Given the description of an element on the screen output the (x, y) to click on. 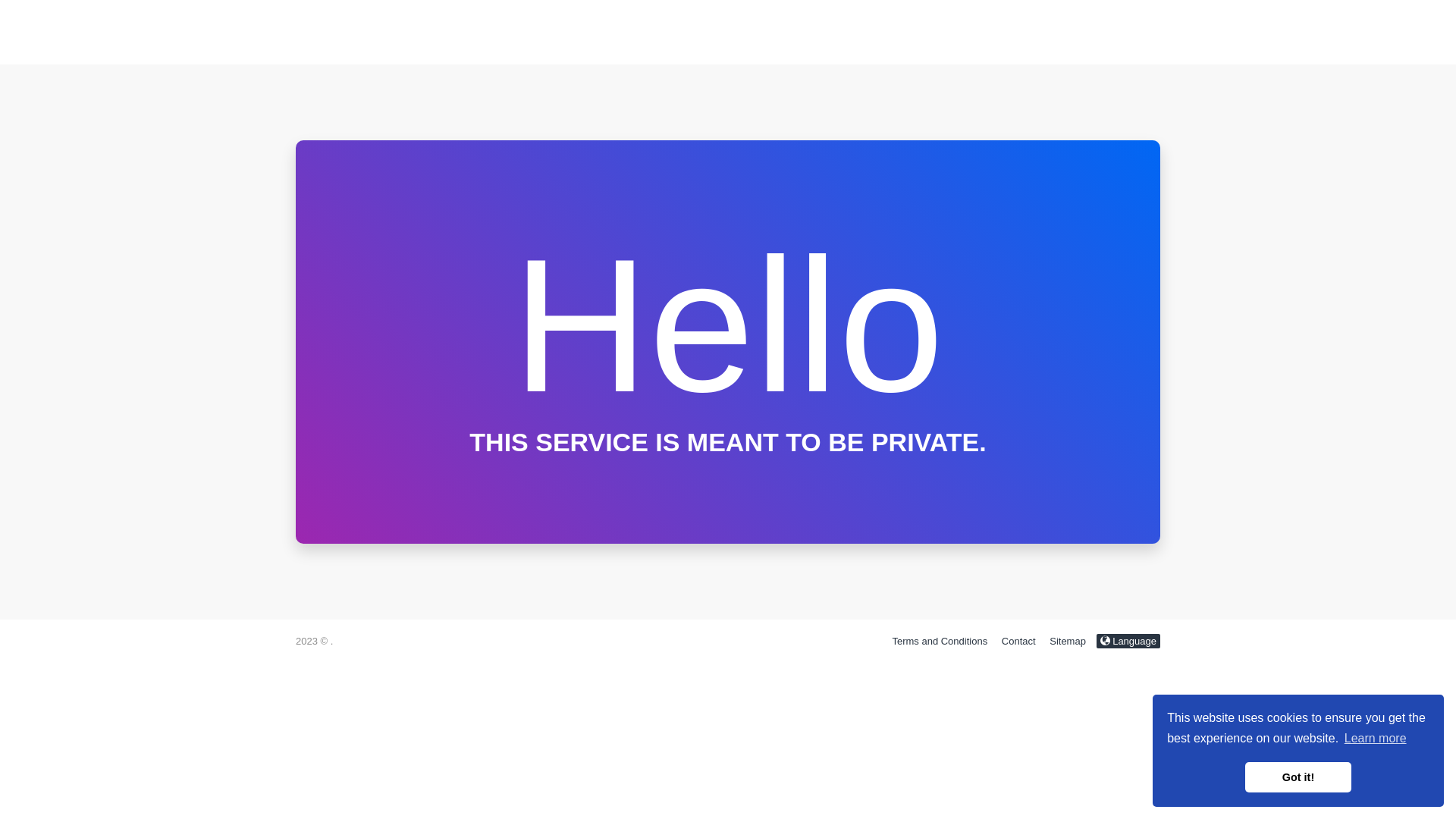
Learn more Element type: text (1375, 738)
Sitemap Element type: text (1067, 640)
Terms and Conditions Element type: text (939, 640)
Got it! Element type: text (1298, 777)
Contact Element type: text (1018, 640)
Language Element type: text (1128, 640)
